Given the description of an element on the screen output the (x, y) to click on. 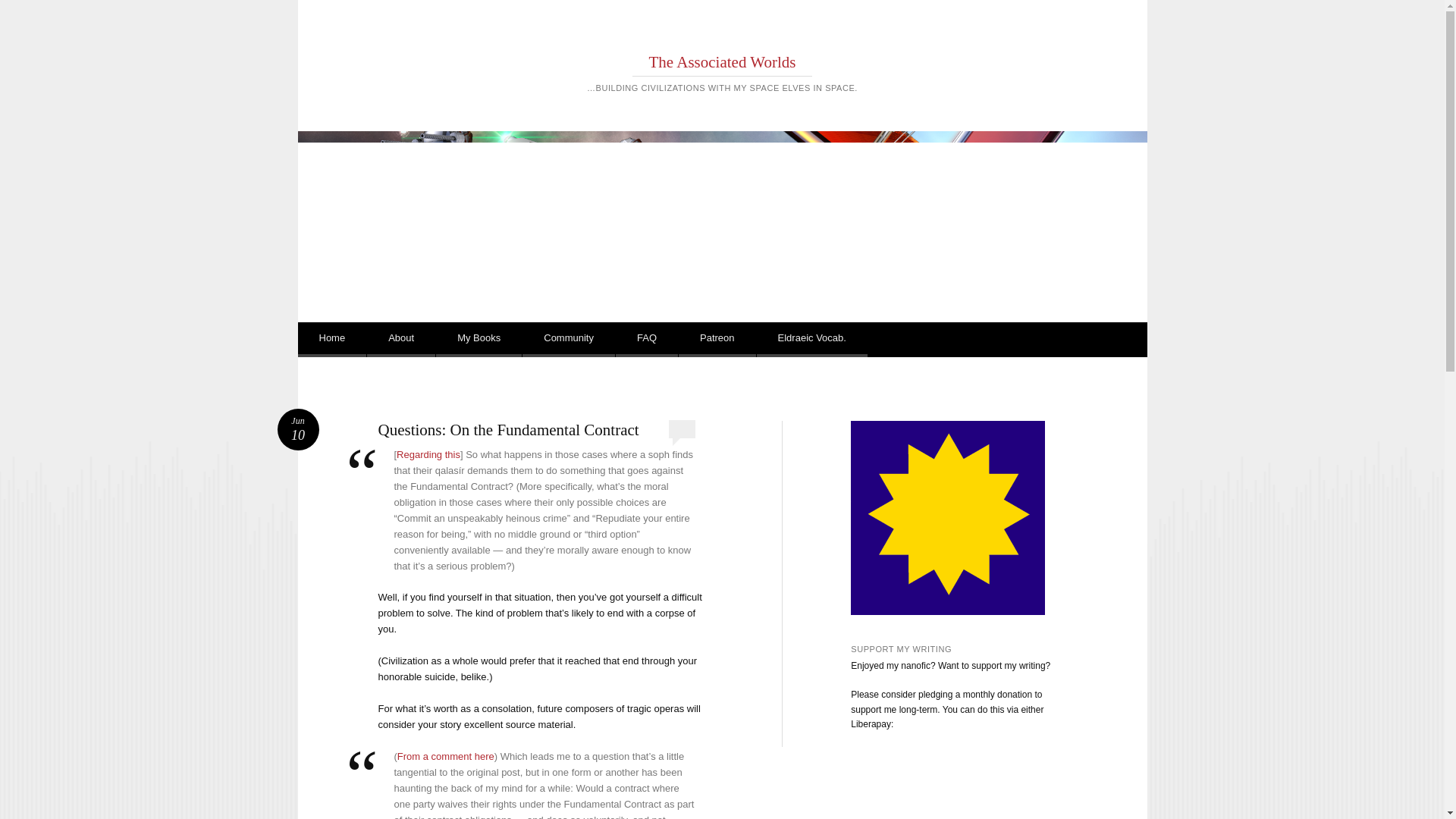
FAQ (646, 339)
Patreon (716, 339)
Skip to content (350, 339)
Permalink to Questions: On the Fundamental Contract (298, 429)
Community (568, 339)
Skip to content (350, 339)
The Associated Worlds (722, 62)
The Associated Worlds (722, 62)
Eldraeic Vocab. (812, 339)
About (400, 339)
From a comment here (446, 756)
My Books (298, 429)
Home (478, 339)
Regarding this (331, 339)
